Given the description of an element on the screen output the (x, y) to click on. 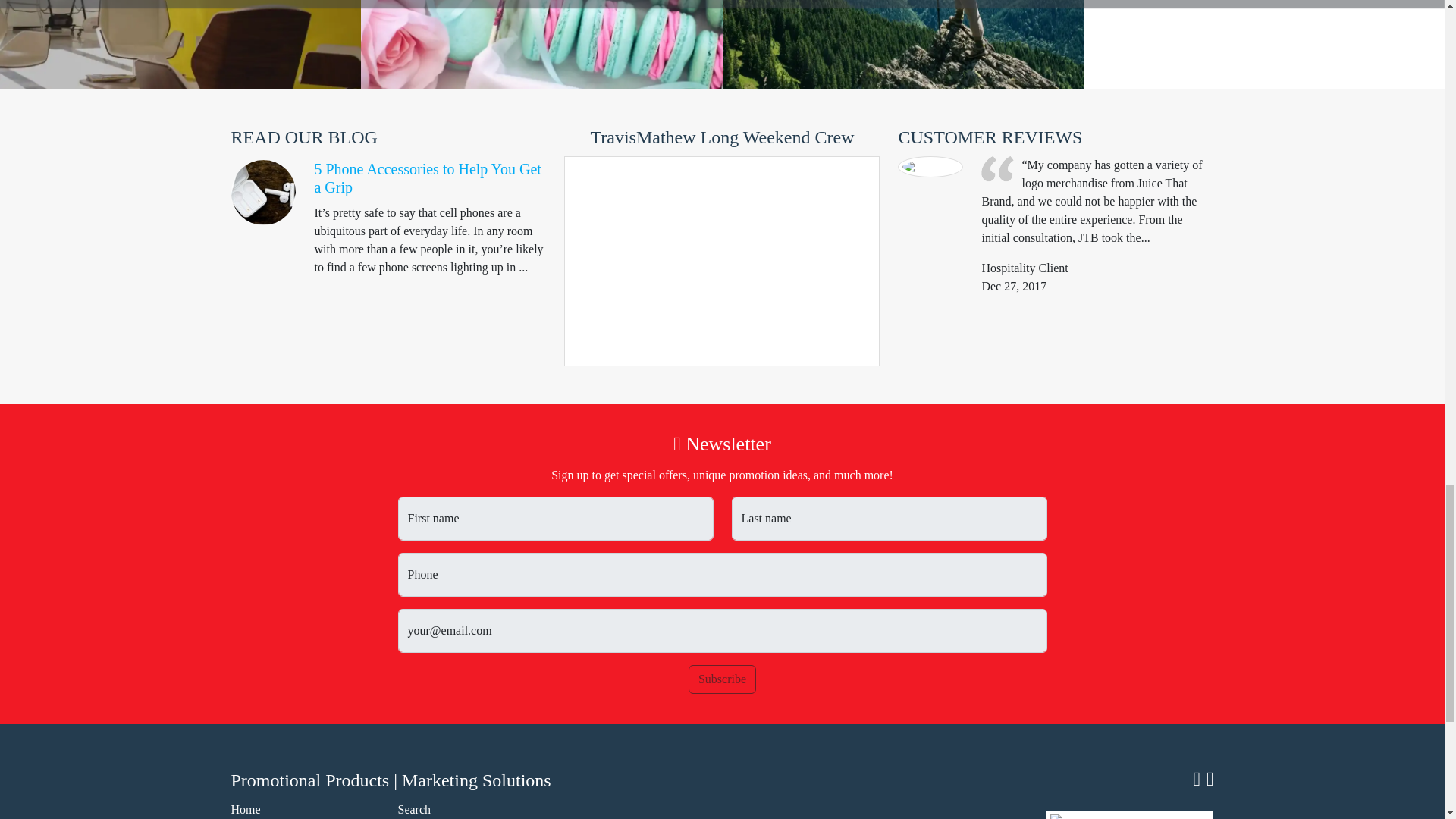
Subscribe (721, 679)
Travel (902, 44)
Promo A-Z (180, 44)
Click for a larger map (1129, 814)
Edible Promos (541, 44)
